Given the description of an element on the screen output the (x, y) to click on. 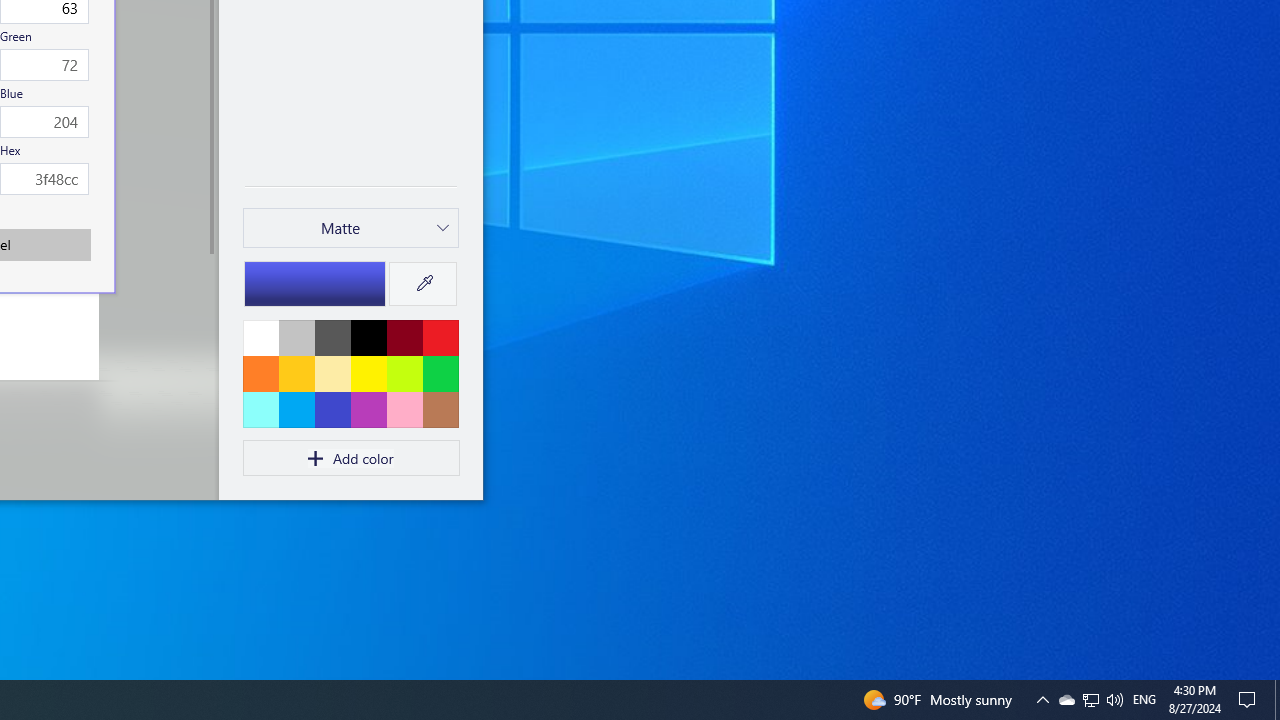
User Promoted Notification Area (1090, 699)
Tray Input Indicator - English (United States) (1144, 699)
Action Center, No new notifications (1066, 699)
Notification Chevron (1091, 699)
Show desktop (1250, 699)
Q2790: 100% (1042, 699)
